Given the description of an element on the screen output the (x, y) to click on. 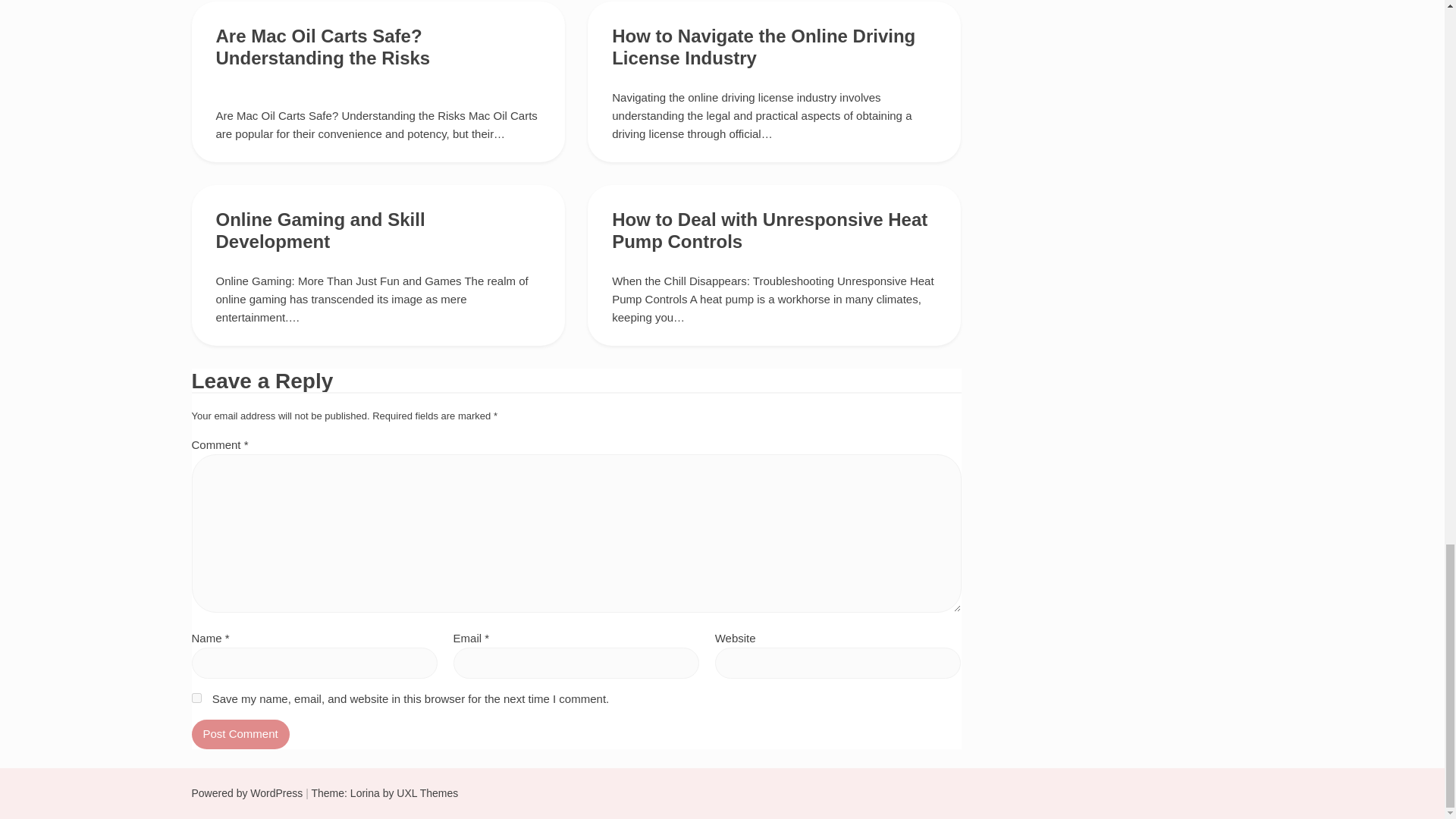
How to Navigate the Online Driving License Industry (763, 46)
Lorina (365, 793)
Online Gaming and Skill Development (320, 230)
How to Deal with Unresponsive Heat Pump Controls (769, 230)
Are Mac Oil Carts Safe? Understanding the Risks (322, 46)
Powered by WordPress (246, 793)
Post Comment (239, 734)
yes (195, 697)
Post Comment (239, 734)
